Given the description of an element on the screen output the (x, y) to click on. 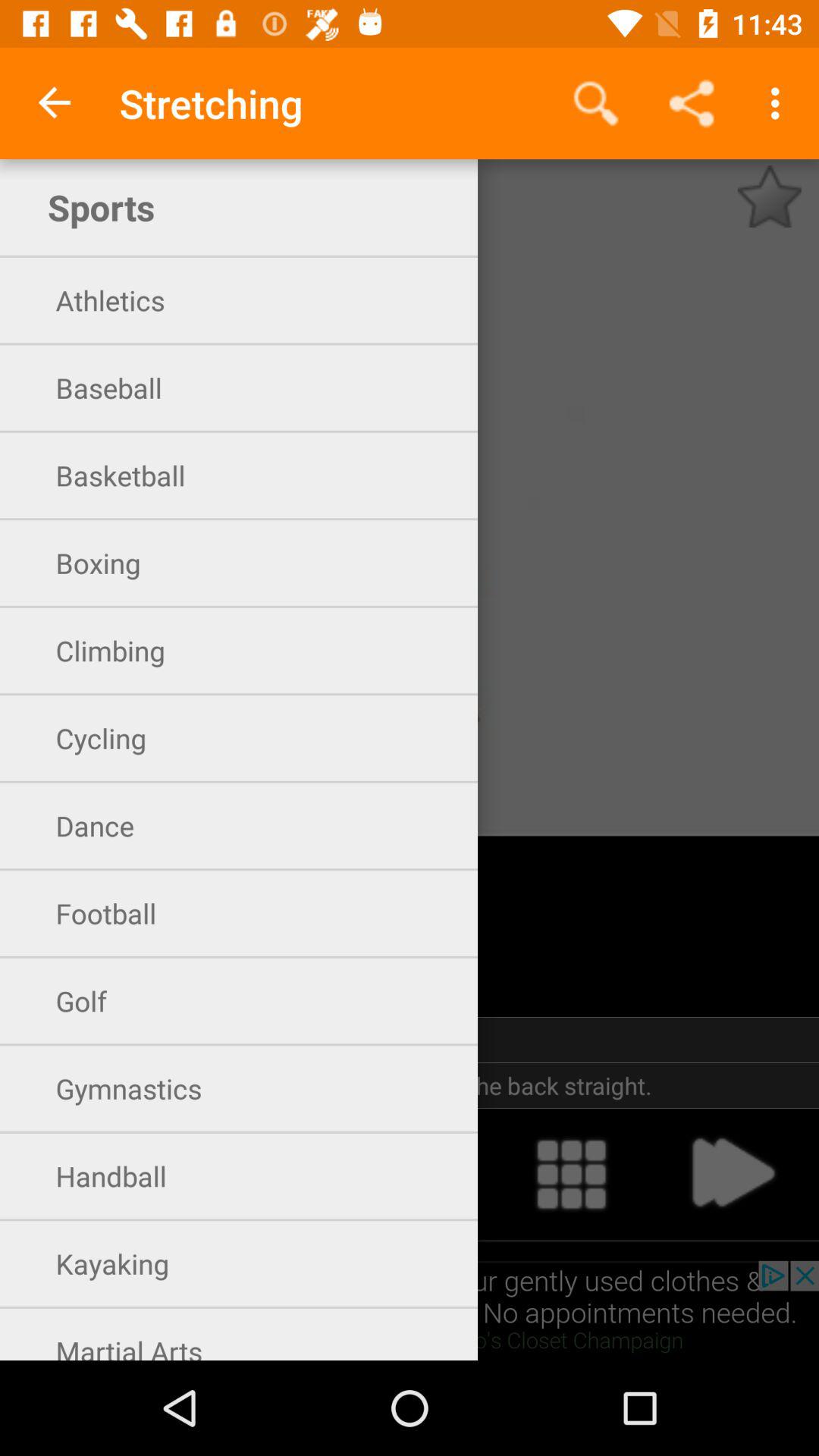
select track (570, 1174)
